Given the description of an element on the screen output the (x, y) to click on. 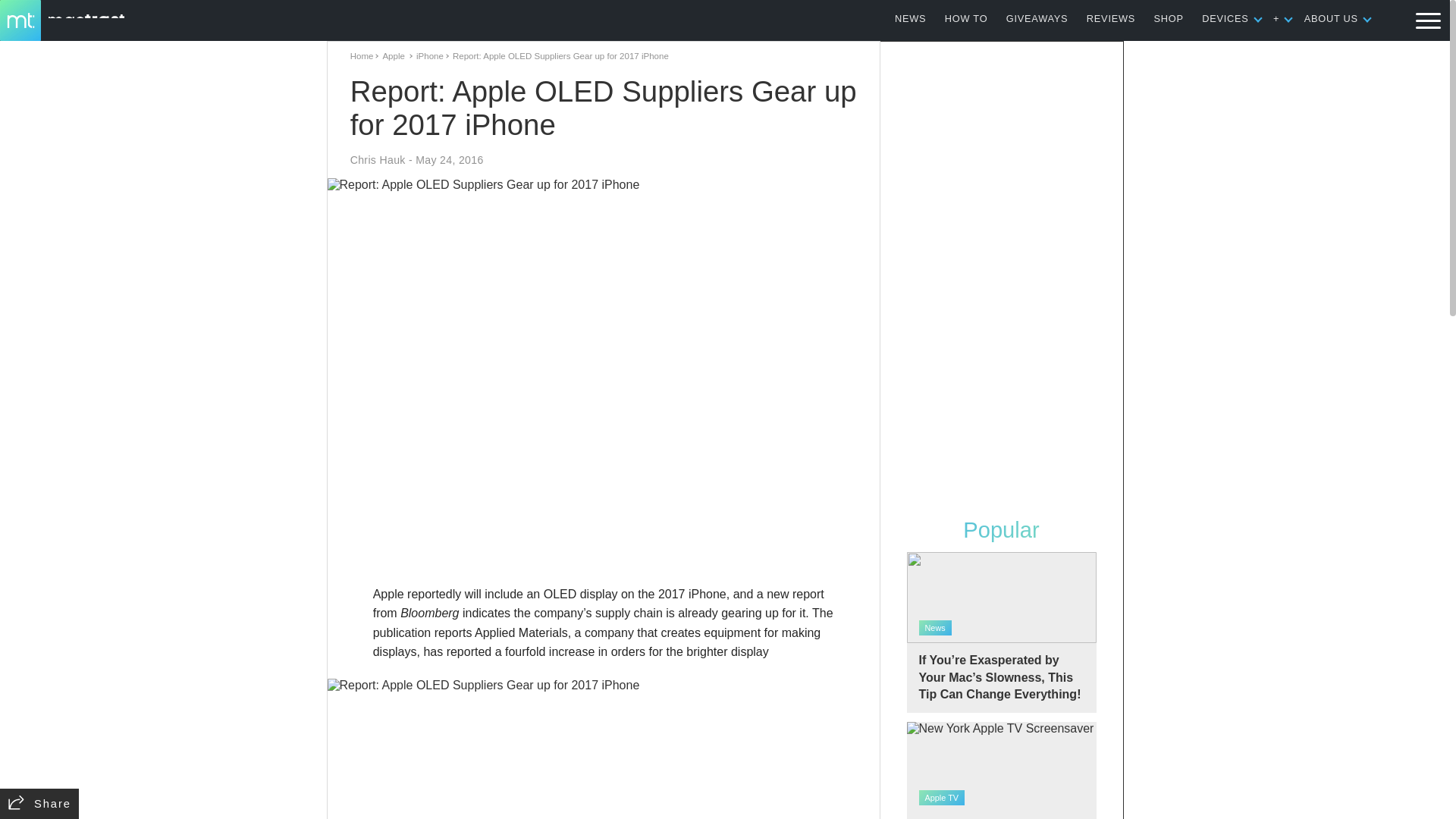
DEVICES (1224, 18)
REVIEWS (1110, 18)
SHOP (1168, 18)
Posts by Chris Hauk (378, 159)
GIVEAWAYS (1037, 18)
ABOUT US (1331, 18)
HOW TO (966, 18)
Apple TV Screensavers and Their Locations Identified 2024 (1001, 770)
Report: Apple OLED Suppliers Gear up for 2017 iPhone (603, 748)
NEWS (910, 18)
